Given the description of an element on the screen output the (x, y) to click on. 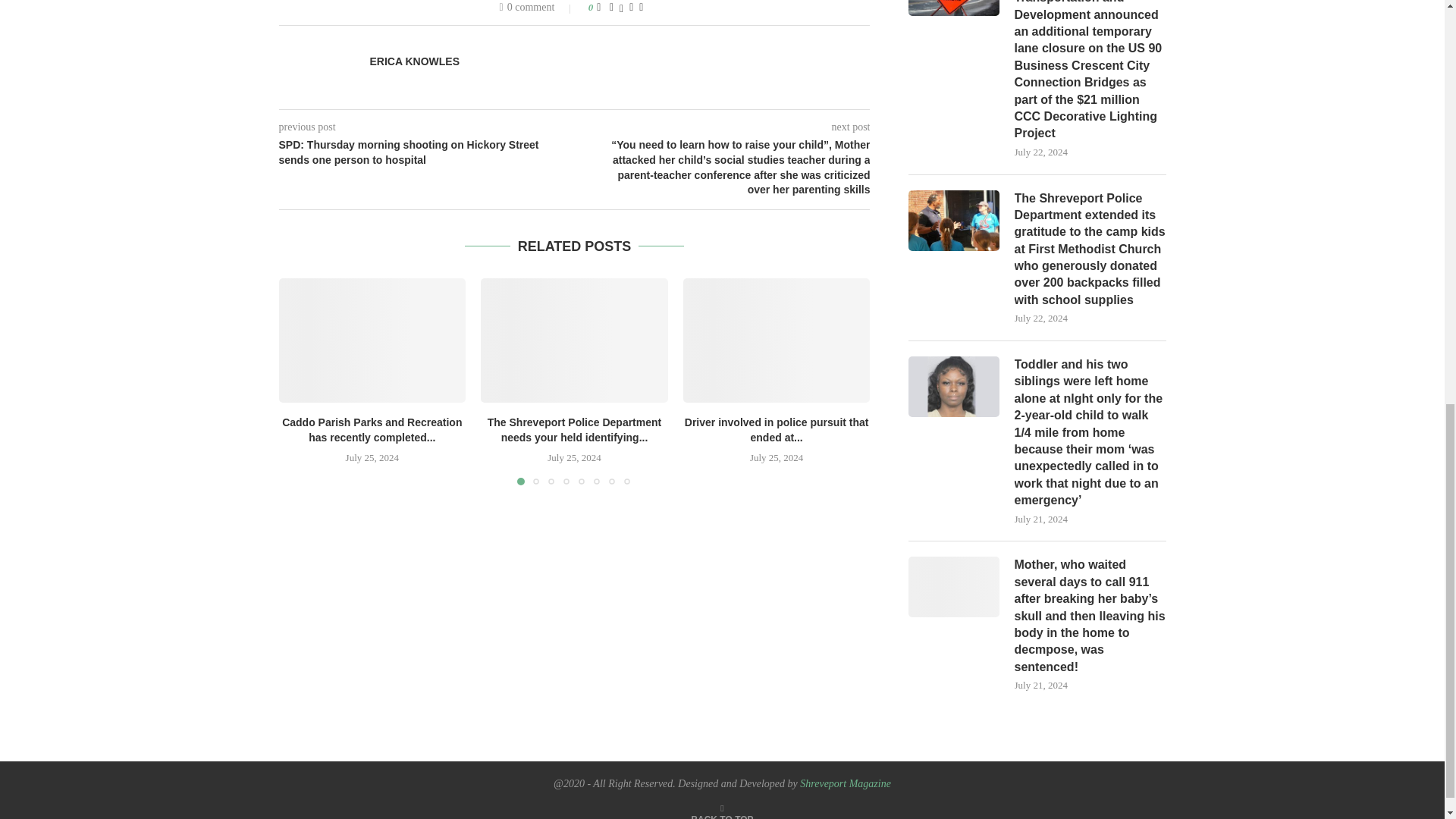
Author Erica Knowles (414, 61)
Driver involved in police pursuit that ended at... (776, 429)
Caddo Parish Parks and Recreation has recently completed... (371, 429)
ERICA KNOWLES (414, 61)
